Given the description of an element on the screen output the (x, y) to click on. 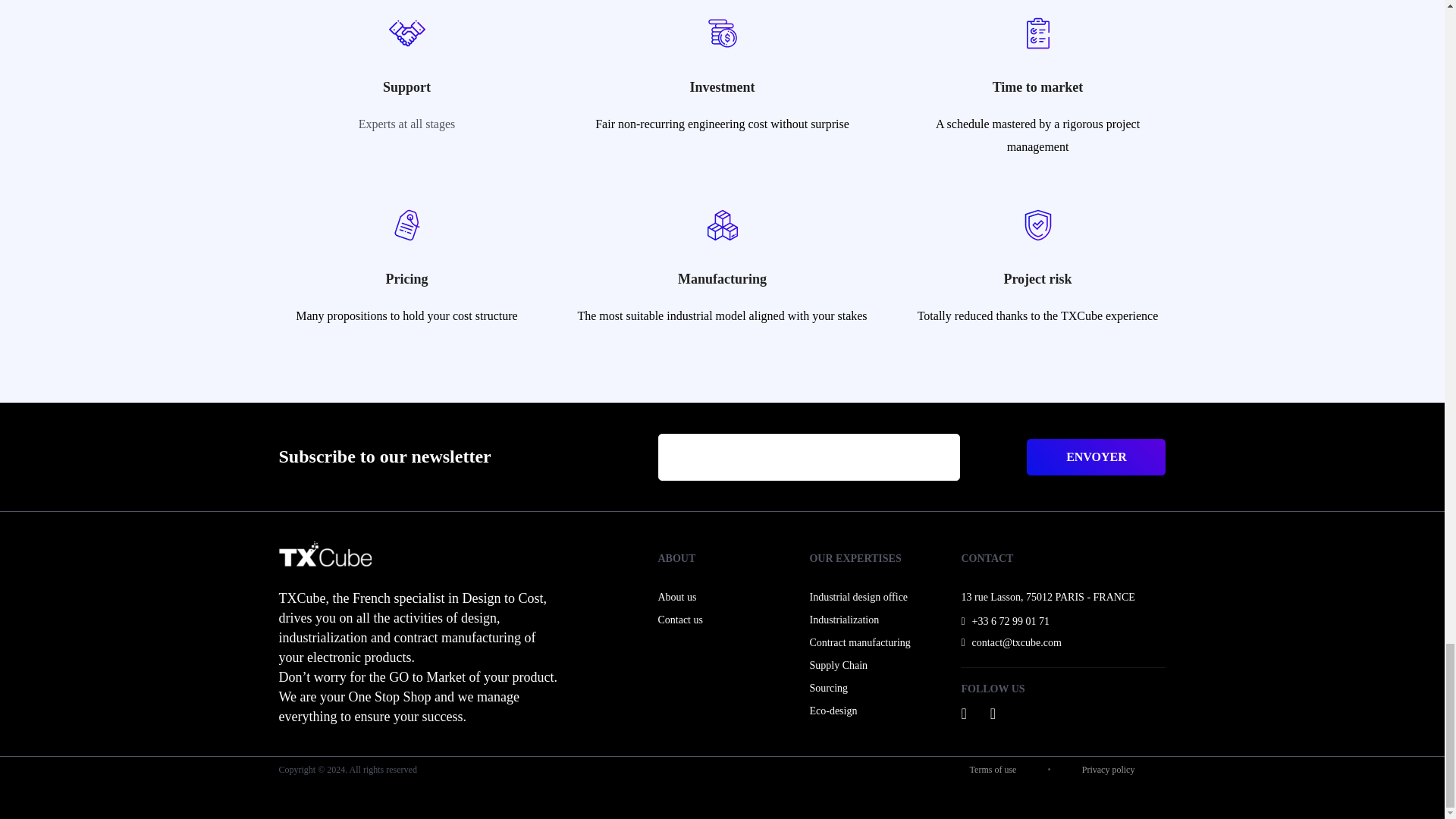
Envoyer (1096, 456)
Envoyer (1096, 456)
